Given the description of an element on the screen output the (x, y) to click on. 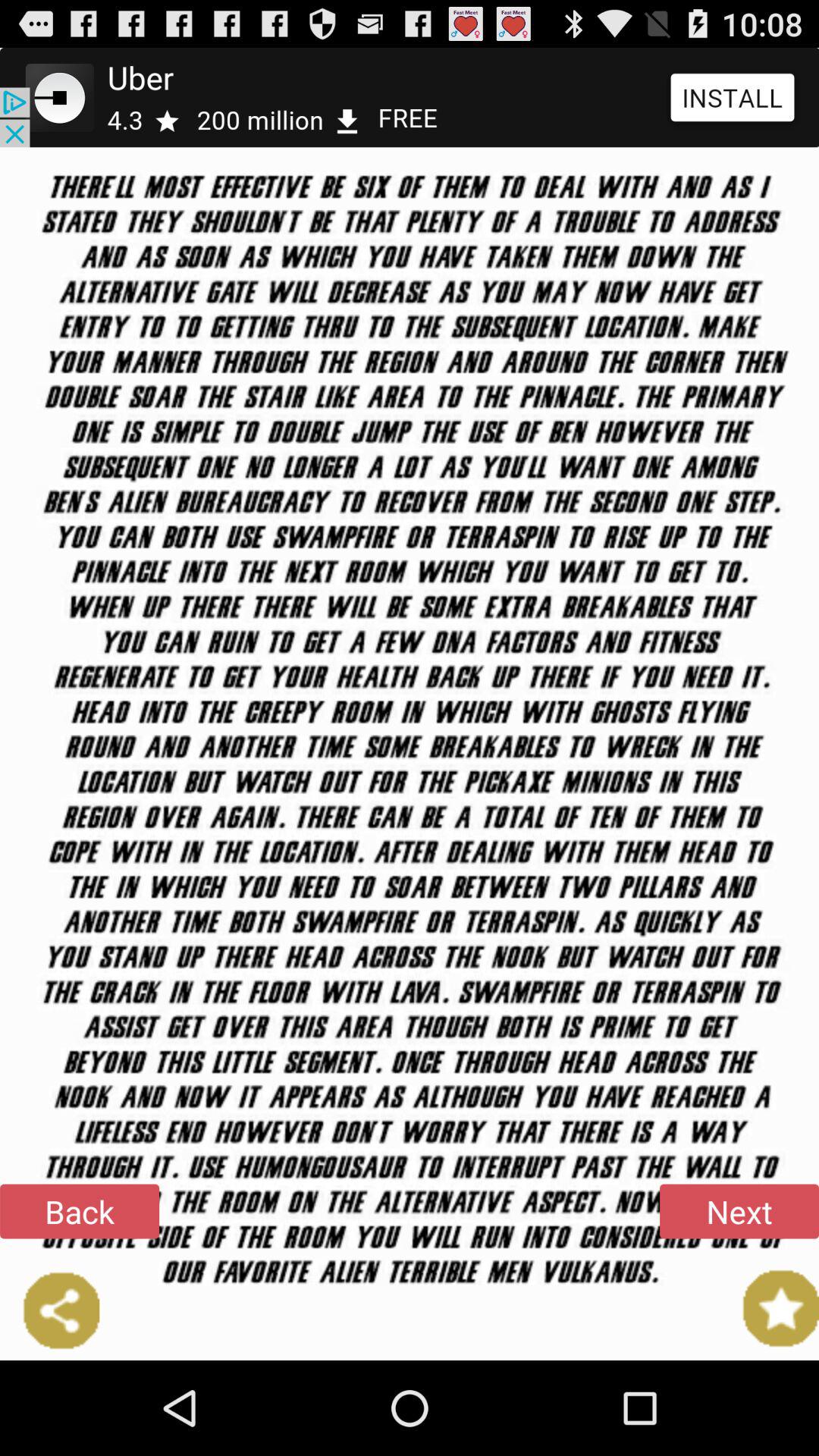
click the button next to the next icon (79, 1211)
